Given the description of an element on the screen output the (x, y) to click on. 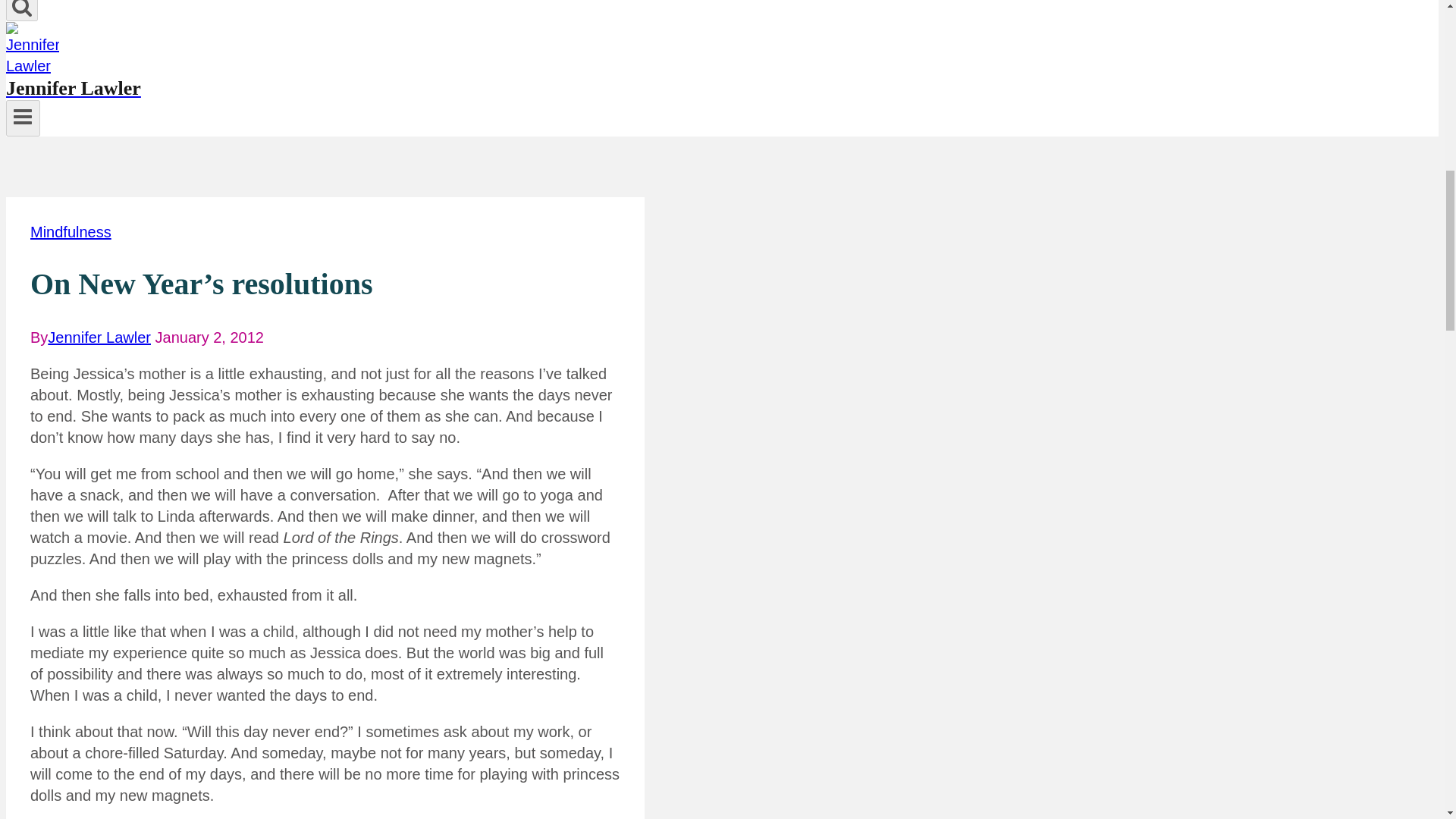
Search (21, 10)
Jennifer Lawler (460, 78)
Search (21, 8)
Jennifer Lawler (99, 337)
Toggle Menu (22, 117)
Mindfulness (71, 231)
